Given the description of an element on the screen output the (x, y) to click on. 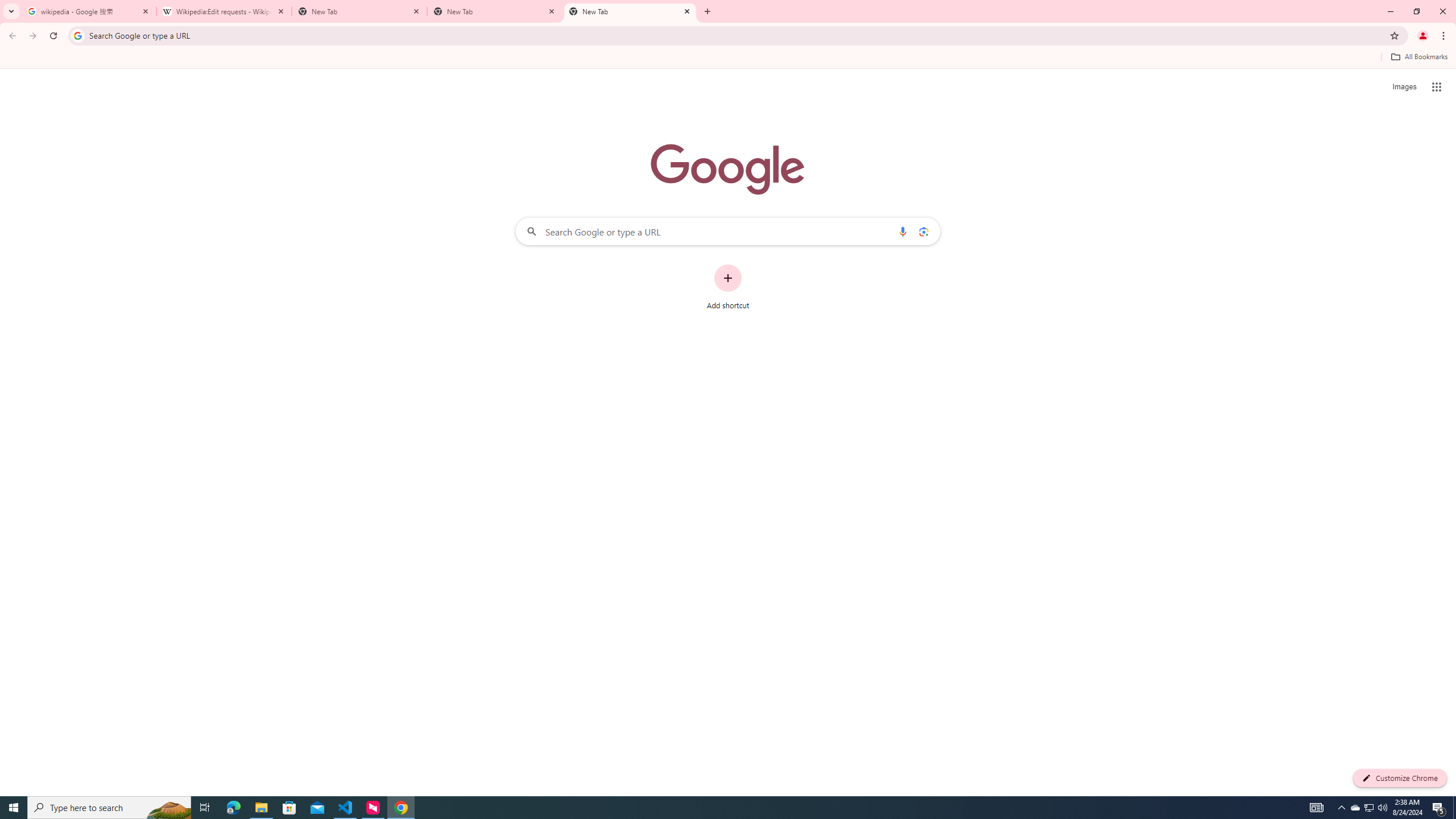
New Tab (359, 11)
